Given the description of an element on the screen output the (x, y) to click on. 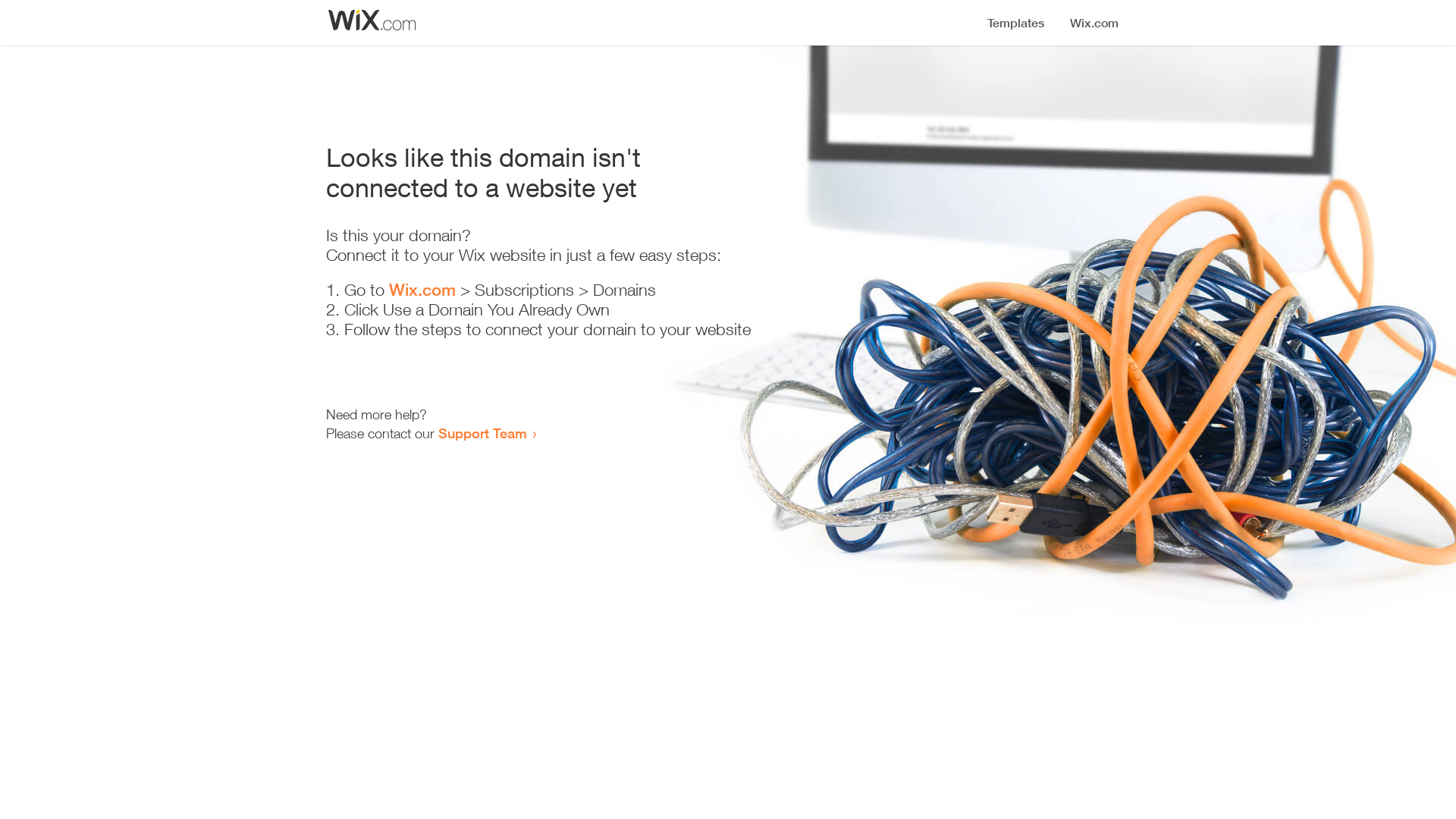
Wix.com Element type: text (422, 289)
Support Team Element type: text (482, 432)
